Given the description of an element on the screen output the (x, y) to click on. 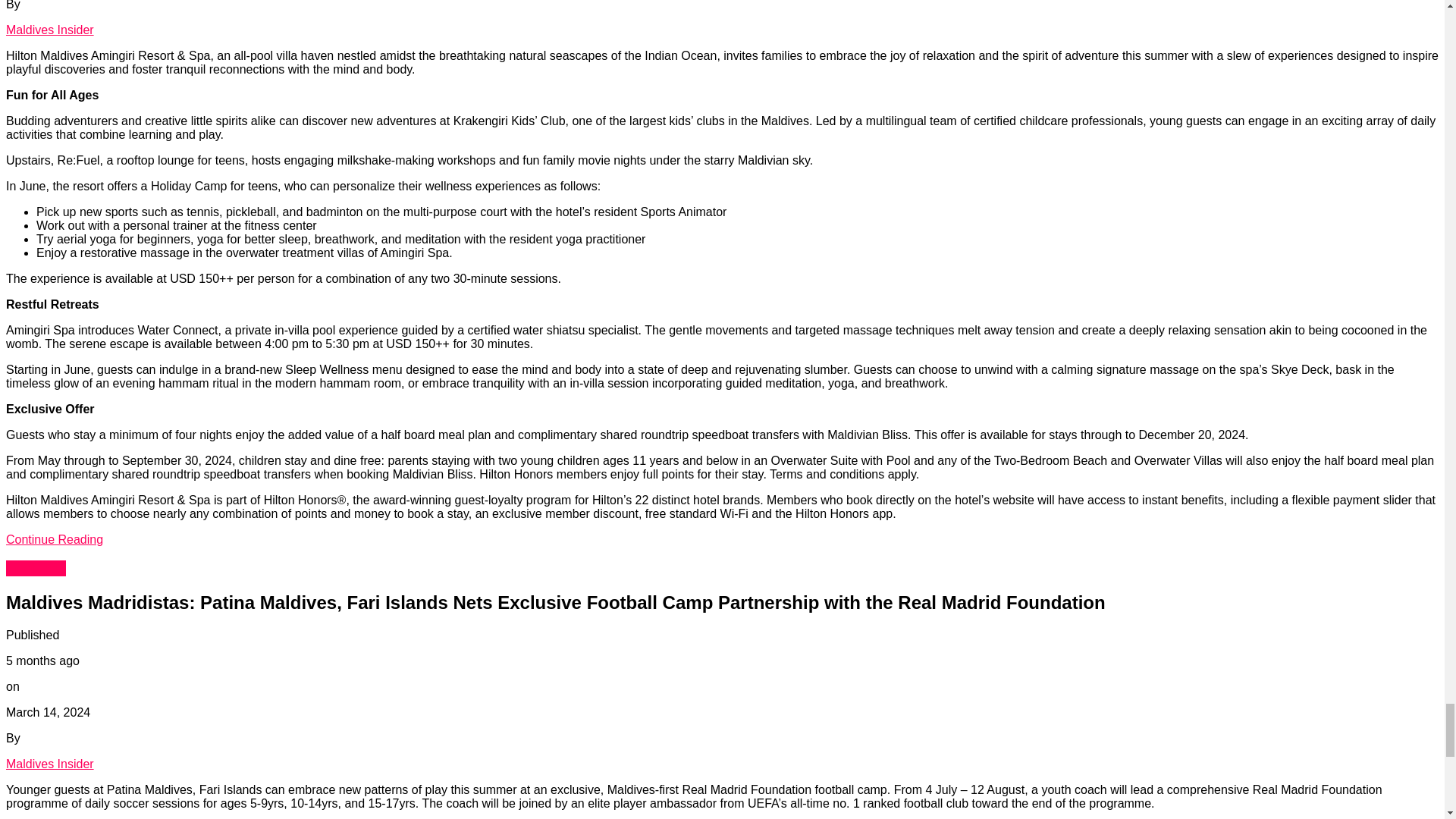
Posts by Maldives Insider (49, 763)
Posts by Maldives Insider (49, 29)
